Given the description of an element on the screen output the (x, y) to click on. 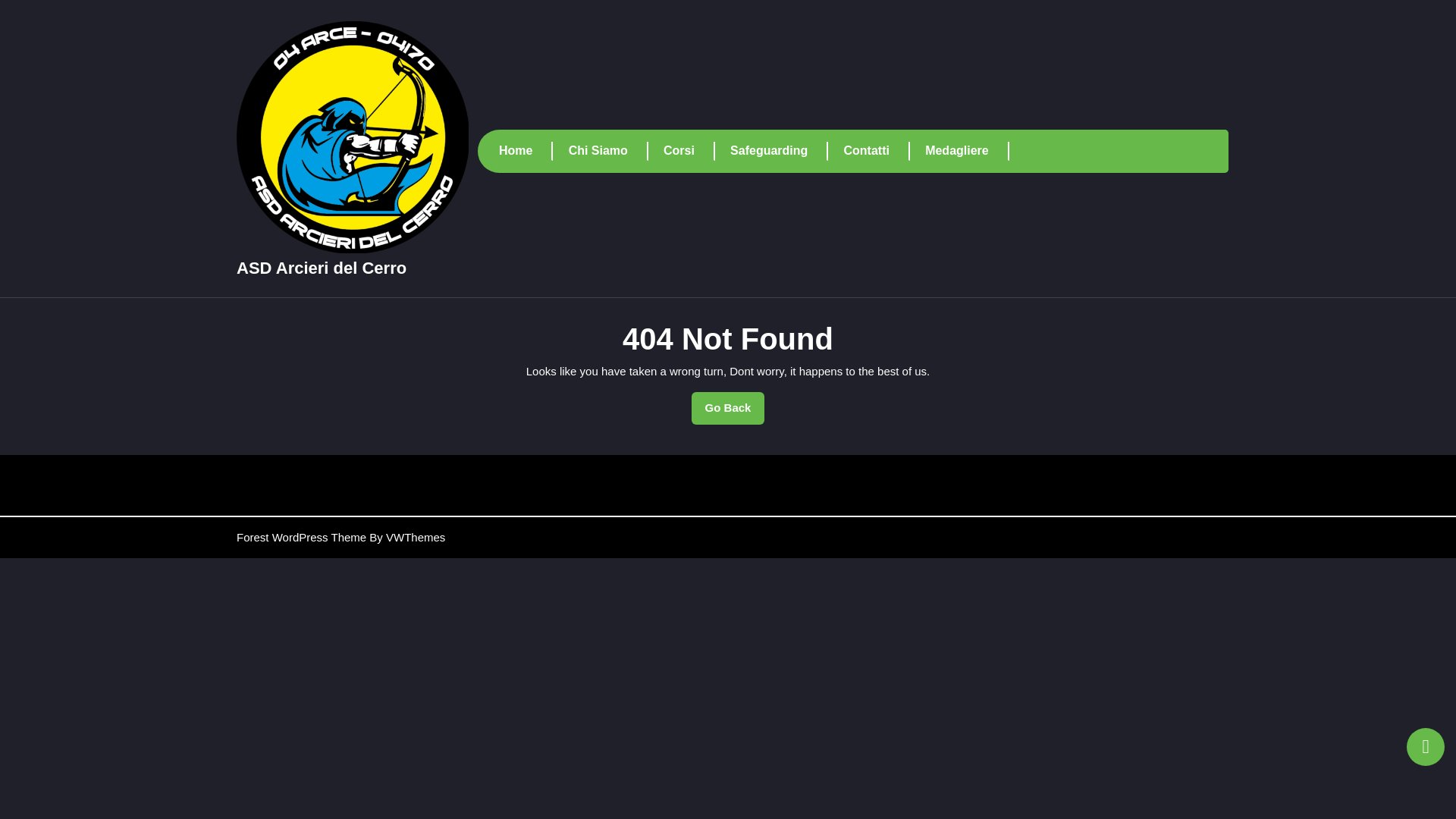
Corsi (688, 150)
Safeguarding (779, 150)
Medagliere (966, 150)
Contatti (877, 150)
Forest WordPress Theme (300, 536)
ASD Arcieri del Cerro (320, 267)
Chi Siamo (608, 150)
Home (728, 408)
